Given the description of an element on the screen output the (x, y) to click on. 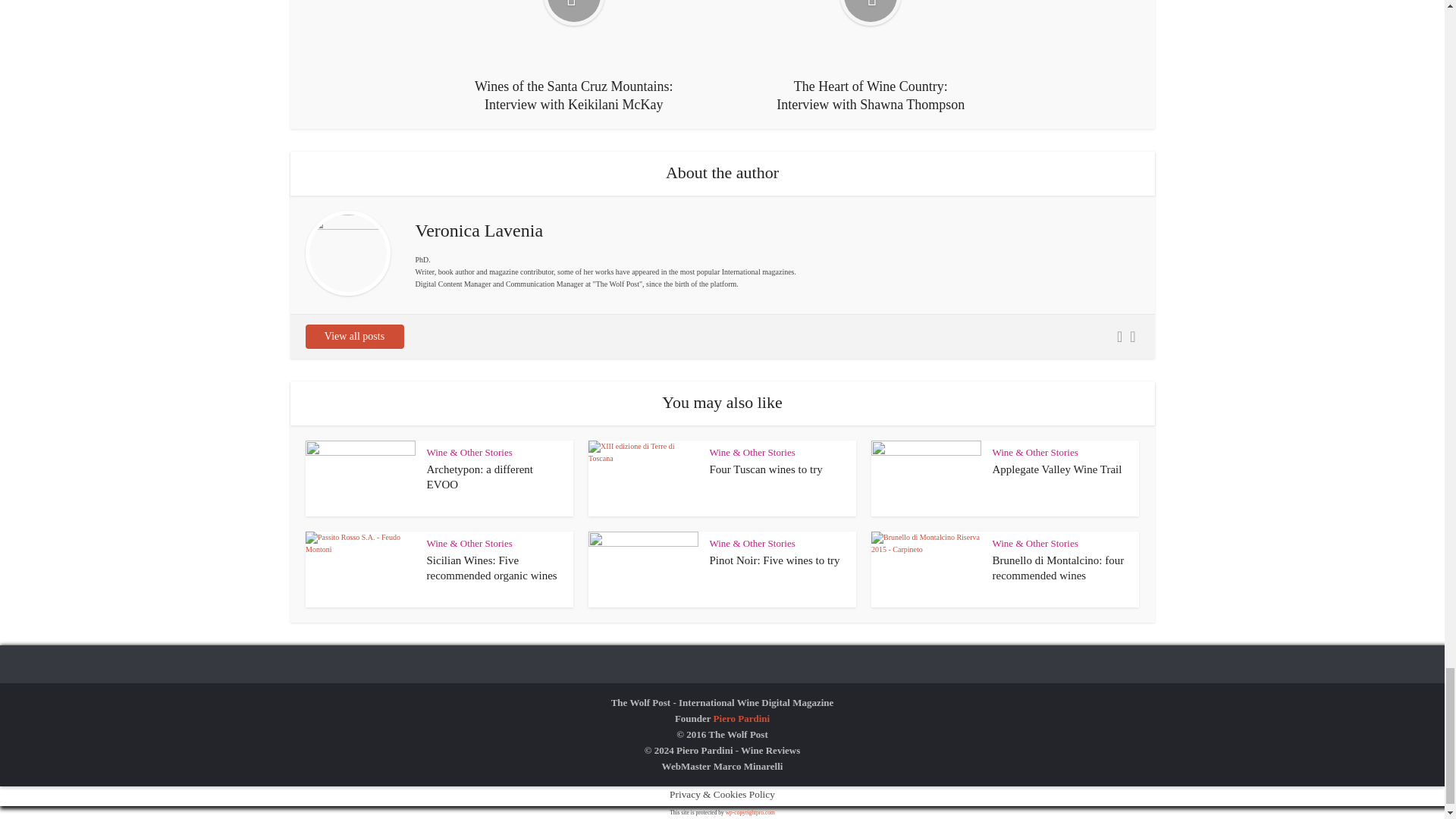
Sicilian Wines: Five recommended organic wines (491, 567)
Wp-Copyrightpro (749, 812)
Pinot Noir: Five wines to try (775, 560)
Applegate Valley Wine Trail (1056, 469)
Four Tuscan wines to try (766, 469)
Archetypon: a different EVOO (479, 476)
Brunello di Montalcino: four recommended wines (1057, 567)
